Given the description of an element on the screen output the (x, y) to click on. 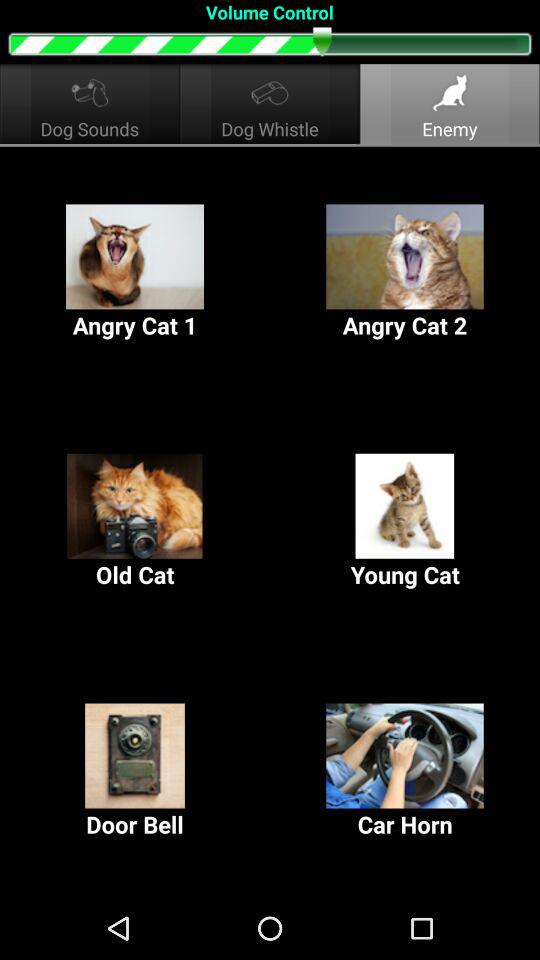
turn off item to the right of the door bell icon (405, 771)
